Given the description of an element on the screen output the (x, y) to click on. 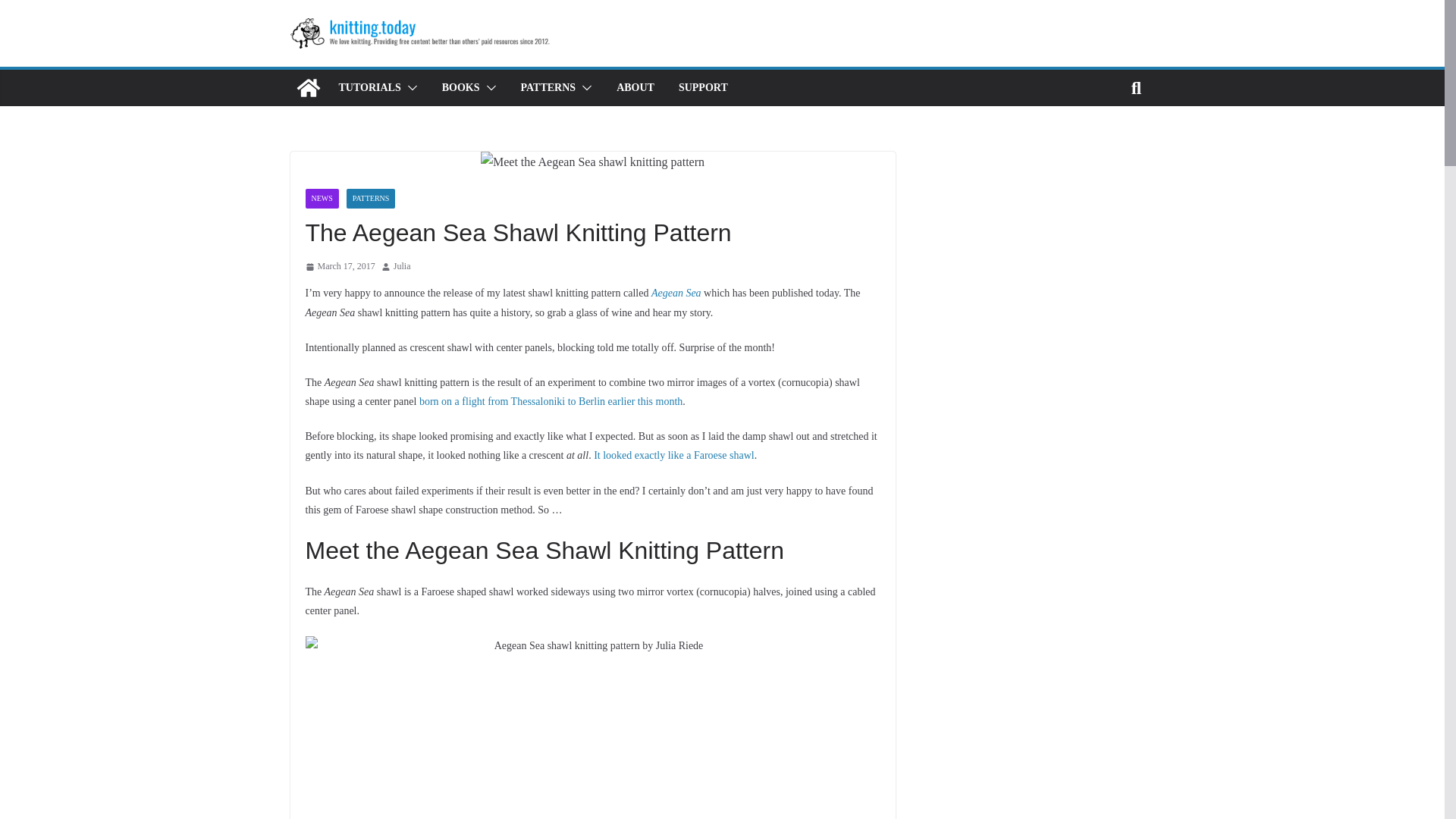
It looked exactly like a Faroese shawl (674, 455)
March 17, 2017 (339, 266)
Aegean Sea (675, 292)
Julia (401, 266)
SUPPORT (703, 87)
11:20 pm (339, 266)
TUTORIALS (368, 87)
PATTERNS (371, 198)
PATTERNS (548, 87)
ABOUT (634, 87)
